Given the description of an element on the screen output the (x, y) to click on. 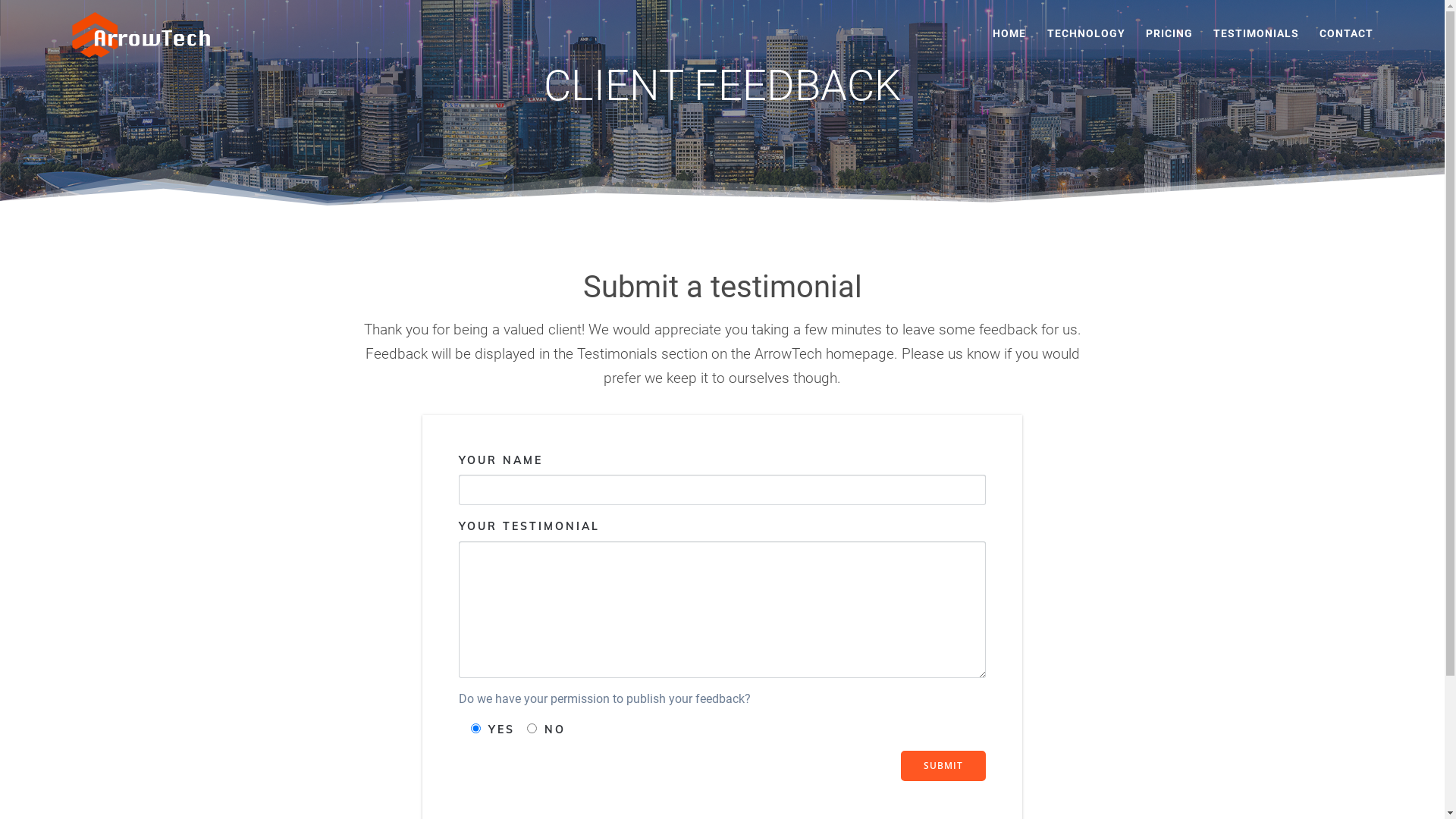
HOME Element type: text (1009, 34)
PRICING Element type: text (1168, 34)
TECHNOLOGY Element type: text (1086, 34)
CONTACT Element type: text (1346, 34)
Submit Element type: text (942, 765)
TESTIMONIALS Element type: text (1256, 34)
